Given the description of an element on the screen output the (x, y) to click on. 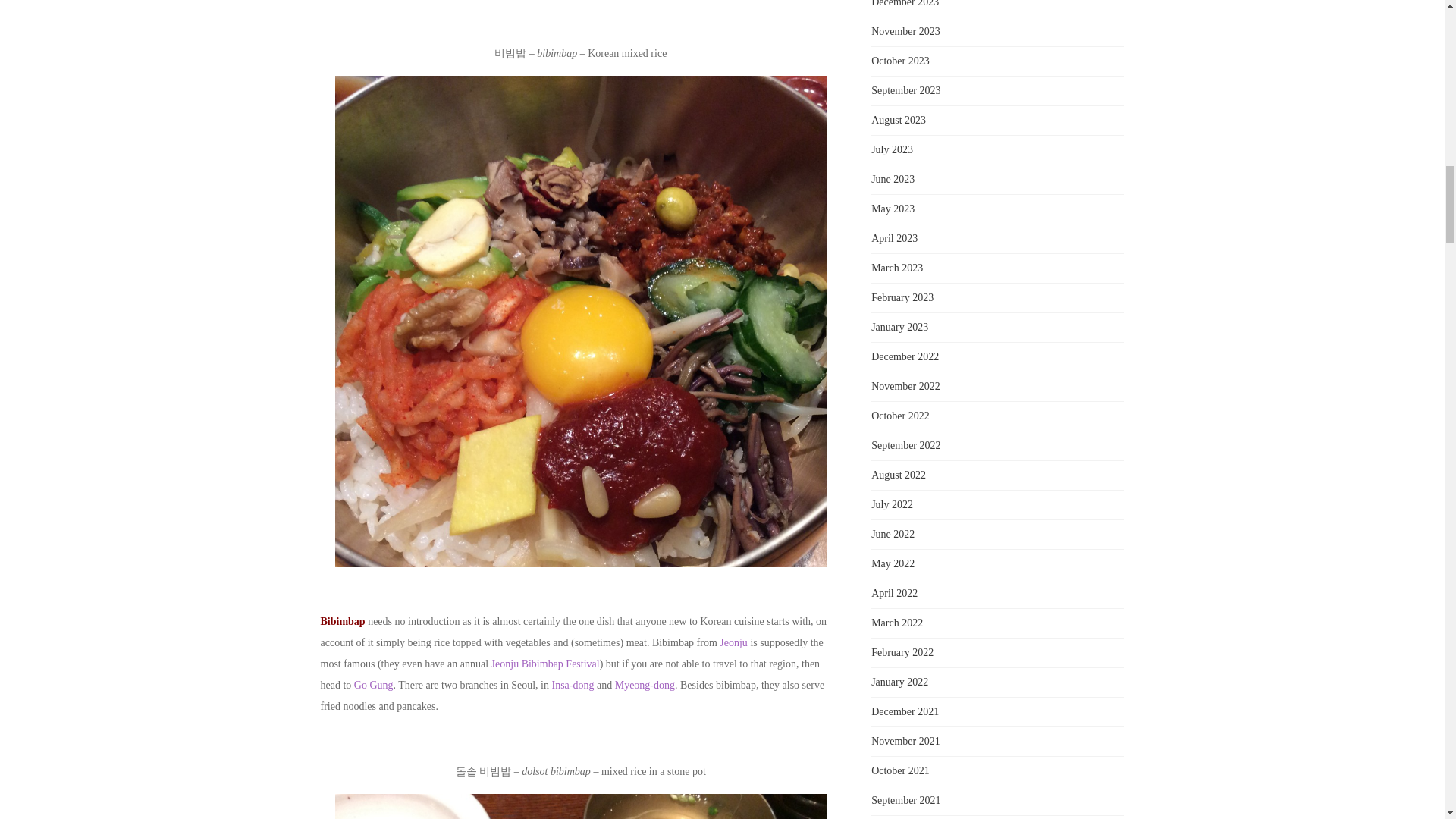
Insa-dong (572, 685)
Jeonju Bibimbap Festival (545, 663)
Jeonju (733, 642)
Myeong-dong (644, 685)
Go Gung (373, 685)
